Given the description of an element on the screen output the (x, y) to click on. 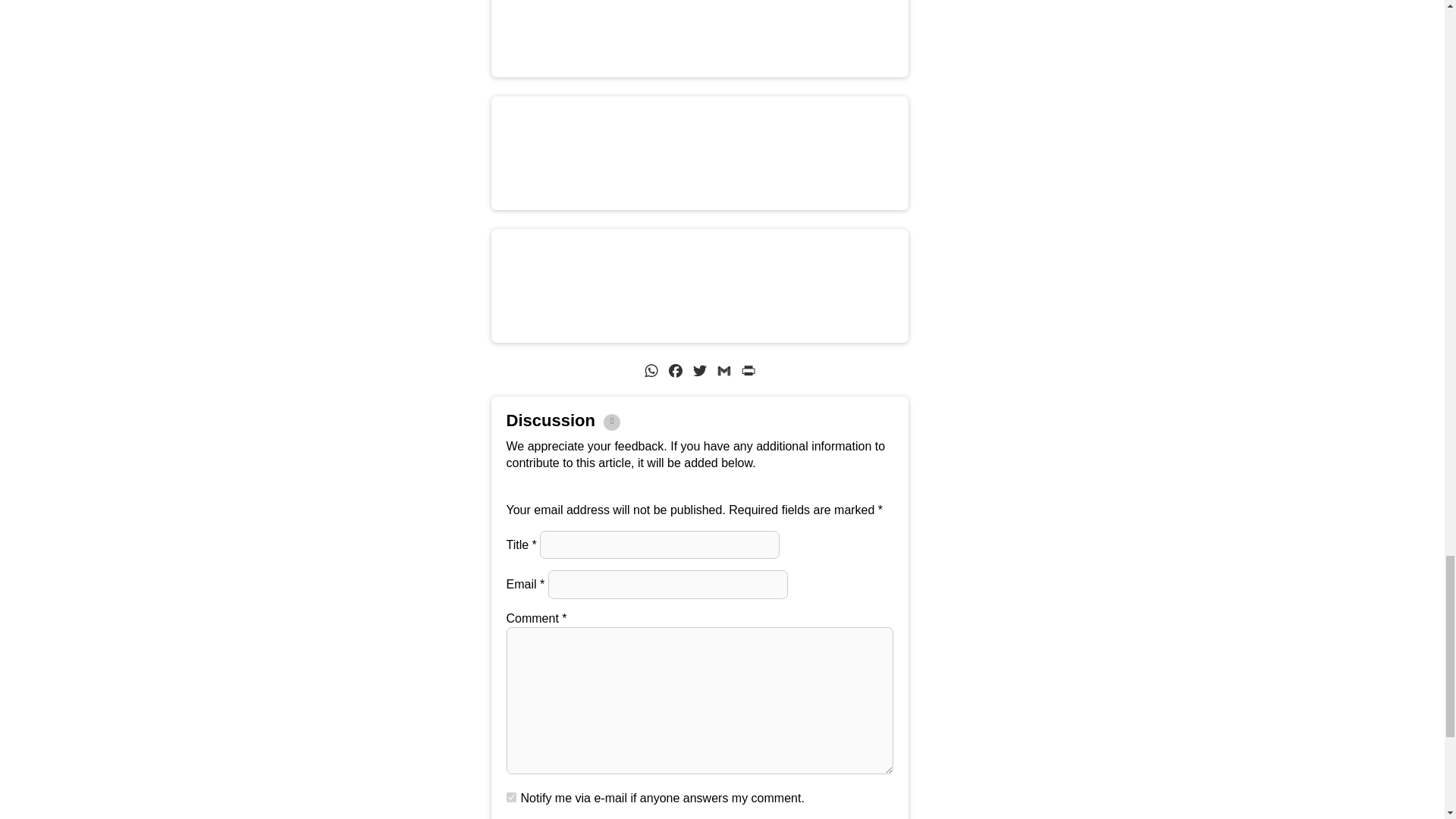
on (511, 797)
